Given the description of an element on the screen output the (x, y) to click on. 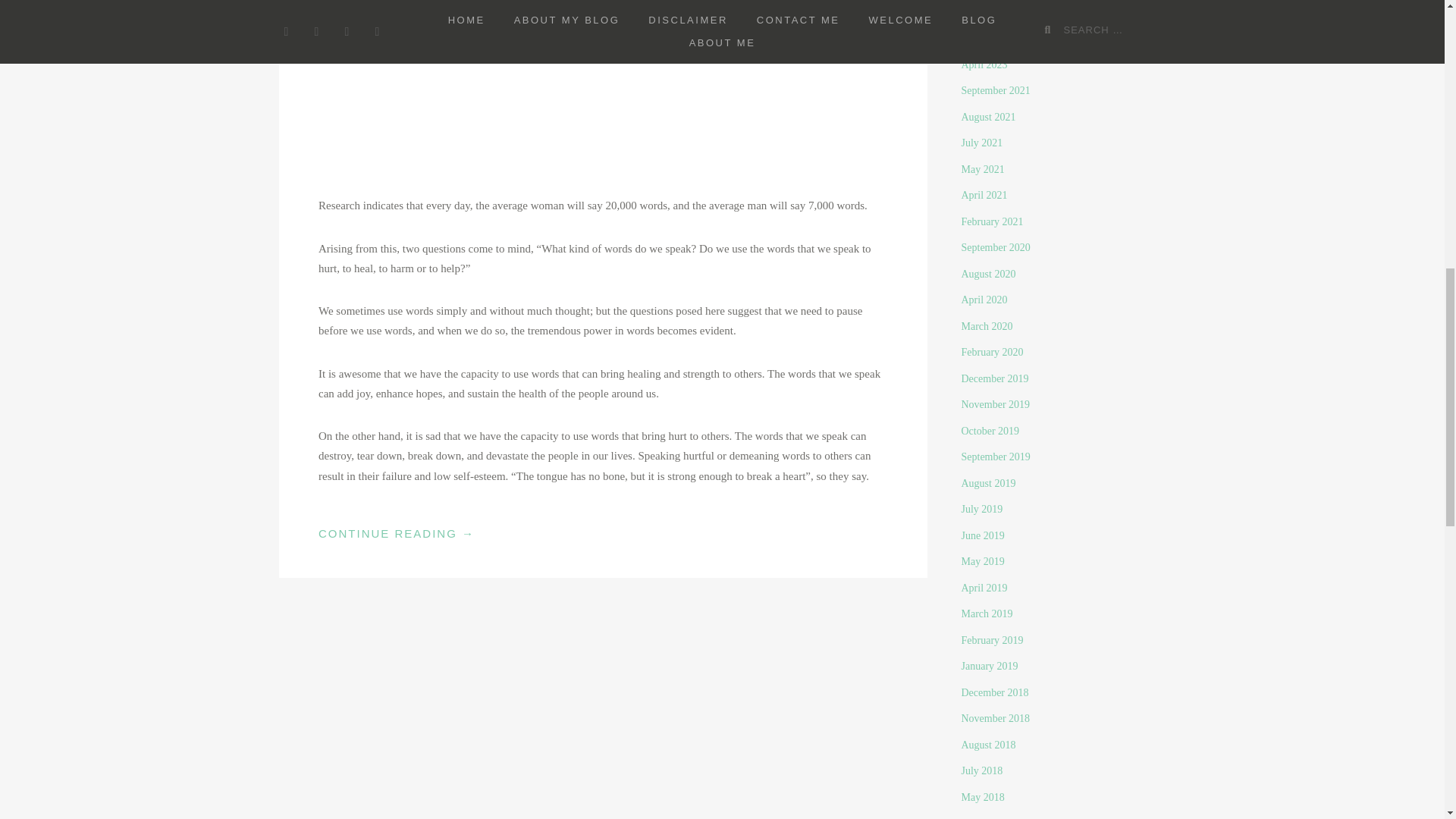
June 2023 (982, 12)
April 2023 (983, 64)
February 2021 (991, 221)
September 2020 (995, 247)
April 2021 (983, 194)
May 2023 (982, 38)
May 2021 (982, 169)
August 2020 (988, 274)
July 2021 (981, 142)
September 2021 (995, 90)
